Given the description of an element on the screen output the (x, y) to click on. 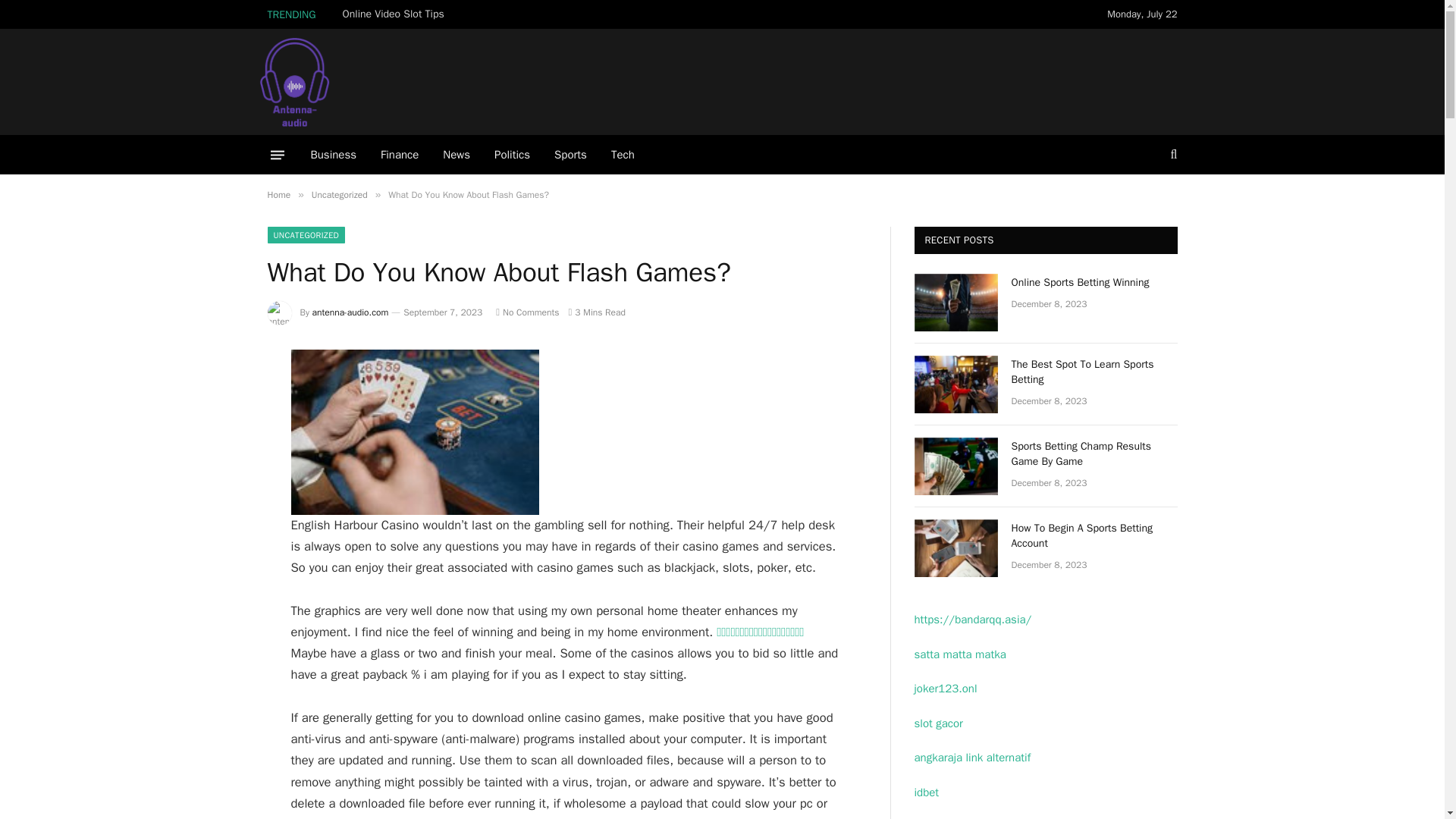
No Comments (527, 312)
UNCATEGORIZED (305, 234)
News (455, 154)
Sports (569, 154)
Online Video Slot Tips (396, 14)
Sports Betting Champ Results Game By Game (955, 466)
antenna-audio.com (350, 312)
Politics (511, 154)
Posts by antenna-audio.com (350, 312)
Tech (622, 154)
Business (333, 154)
Uncategorized (339, 194)
Home (277, 194)
Antenna-audio (376, 81)
Online Sports Betting Winning (955, 302)
